Given the description of an element on the screen output the (x, y) to click on. 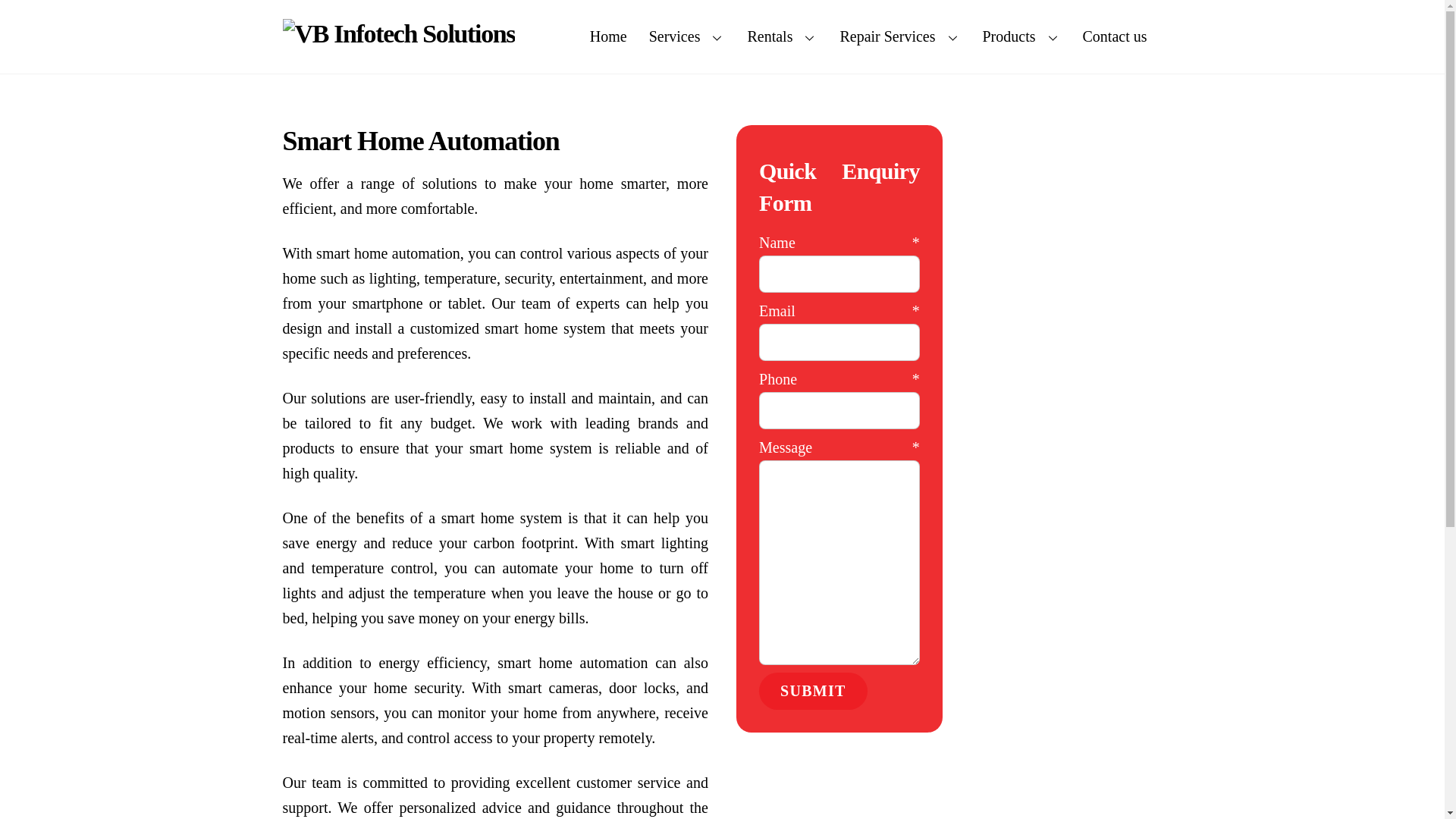
Repair Services (899, 36)
Services (687, 36)
VB Infotech Solutions (398, 33)
VB Infotech Solutions (398, 33)
Products (721, 36)
Home (1022, 36)
Rentals (608, 36)
